Given the description of an element on the screen output the (x, y) to click on. 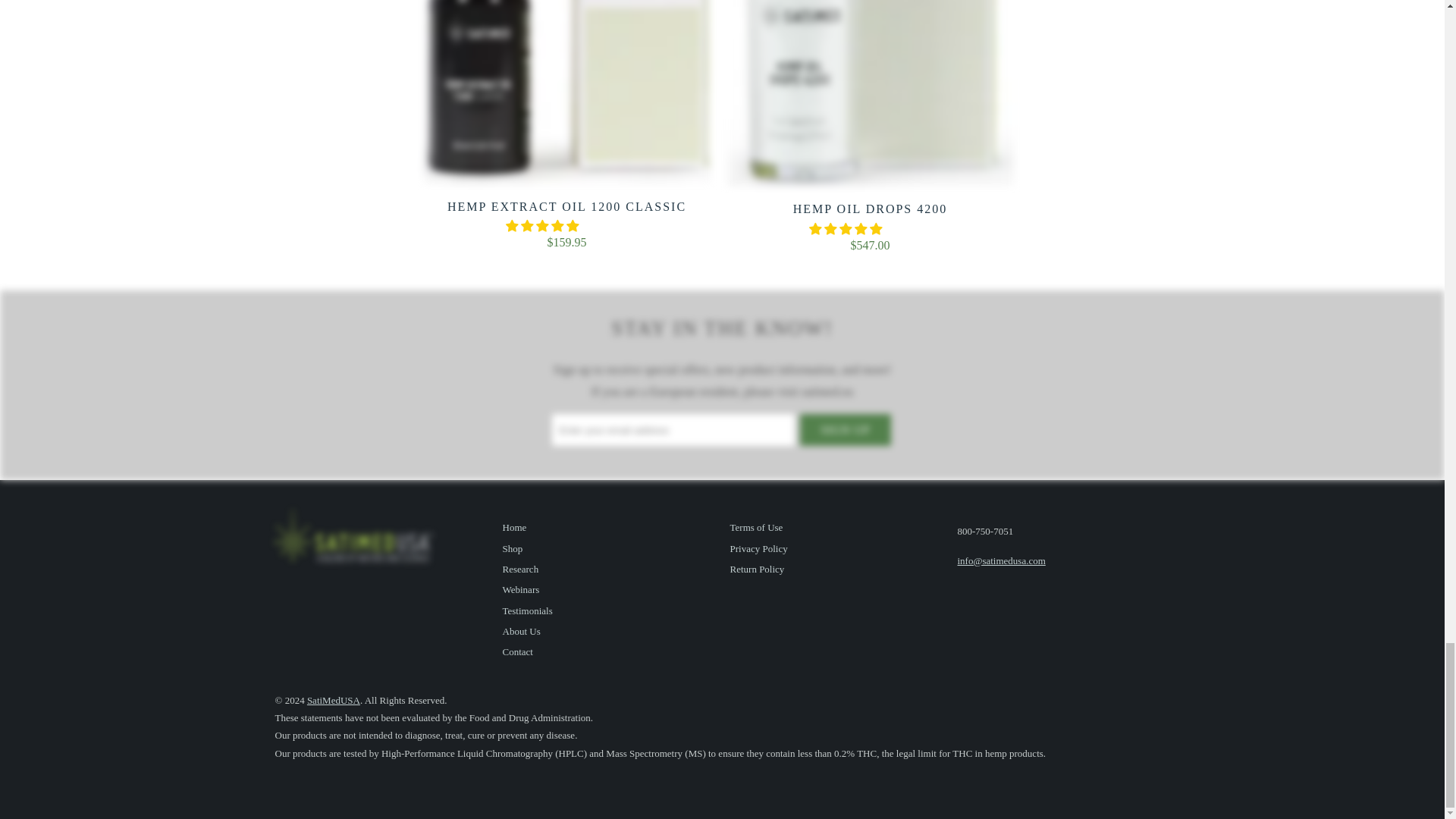
Sign Up (845, 429)
